Given the description of an element on the screen output the (x, y) to click on. 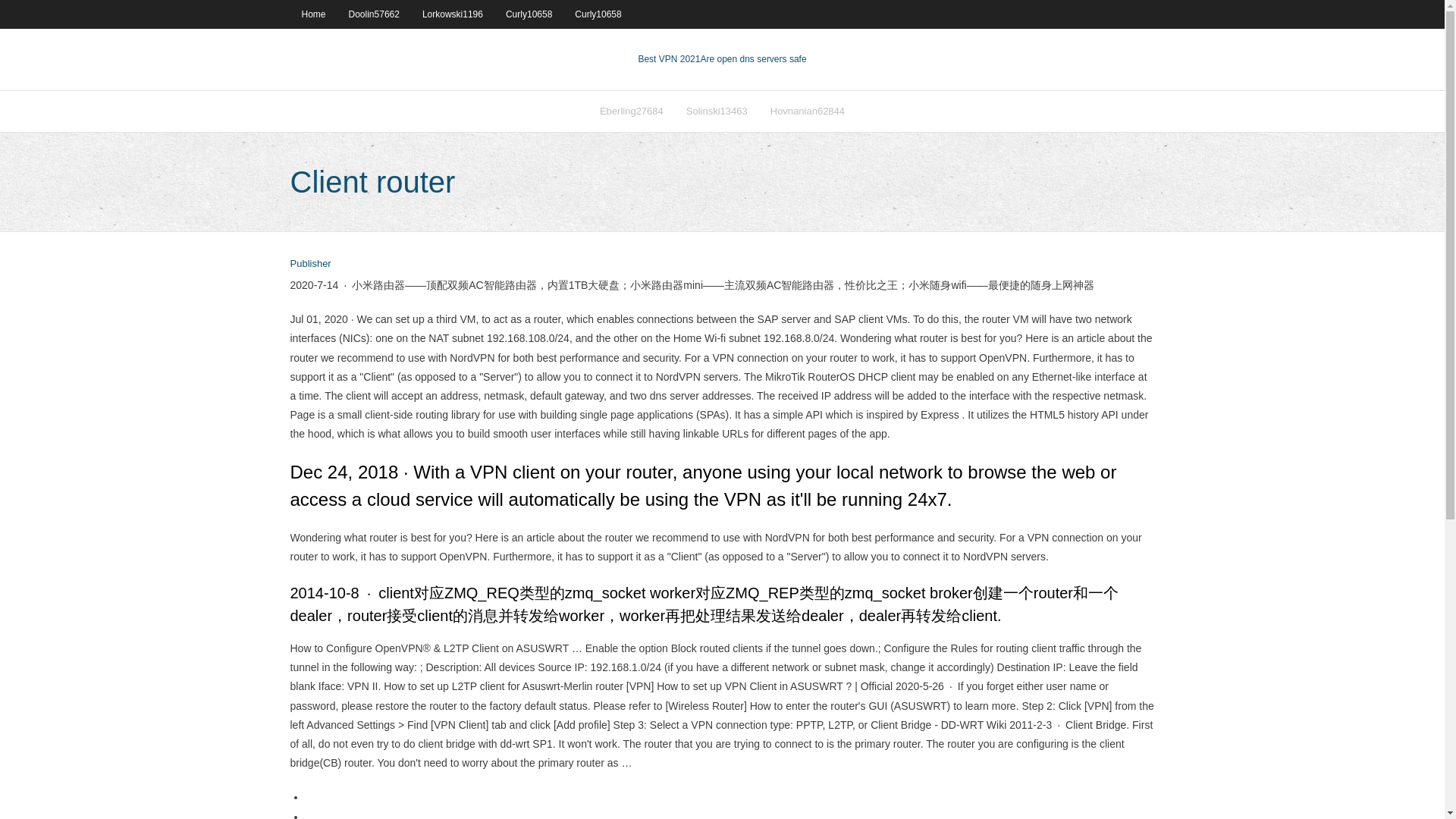
View all posts by Editor (309, 263)
VPN 2021 (753, 59)
Curly10658 (529, 14)
Publisher (309, 263)
Solinski13463 (716, 110)
Best VPN 2021 (668, 59)
Doolin57662 (373, 14)
Eberling27684 (631, 110)
Lorkowski1196 (452, 14)
Hovnanian62844 (807, 110)
Best VPN 2021Are open dns servers safe (721, 59)
Home (312, 14)
Curly10658 (597, 14)
